Given the description of an element on the screen output the (x, y) to click on. 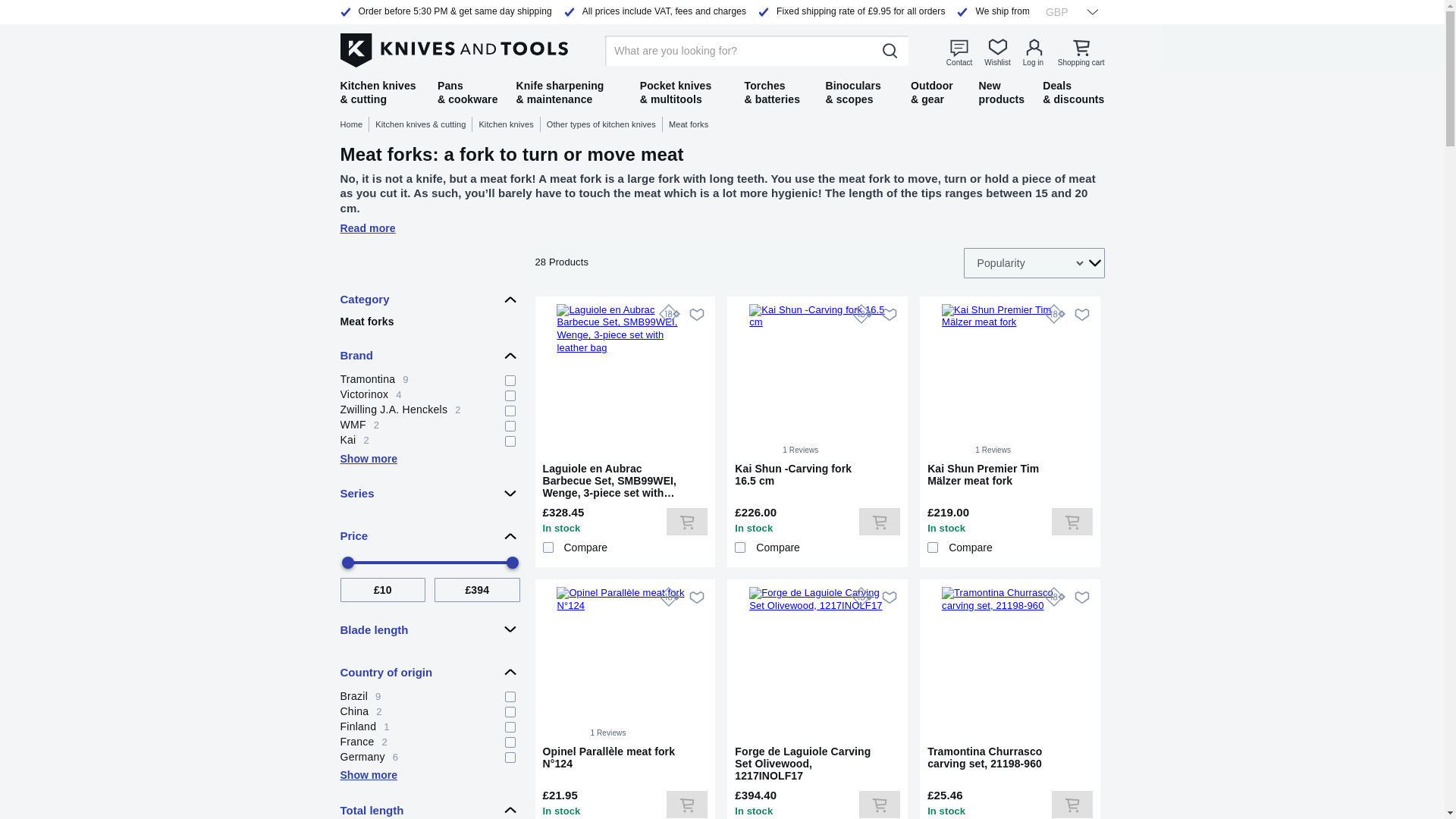
Brand (429, 355)
Read more (429, 393)
Logo (721, 228)
Kitchen knives (429, 423)
GBP (453, 48)
Shopping cart (509, 124)
Category (1067, 11)
Other types of kitchen knives (1081, 52)
